Given the description of an element on the screen output the (x, y) to click on. 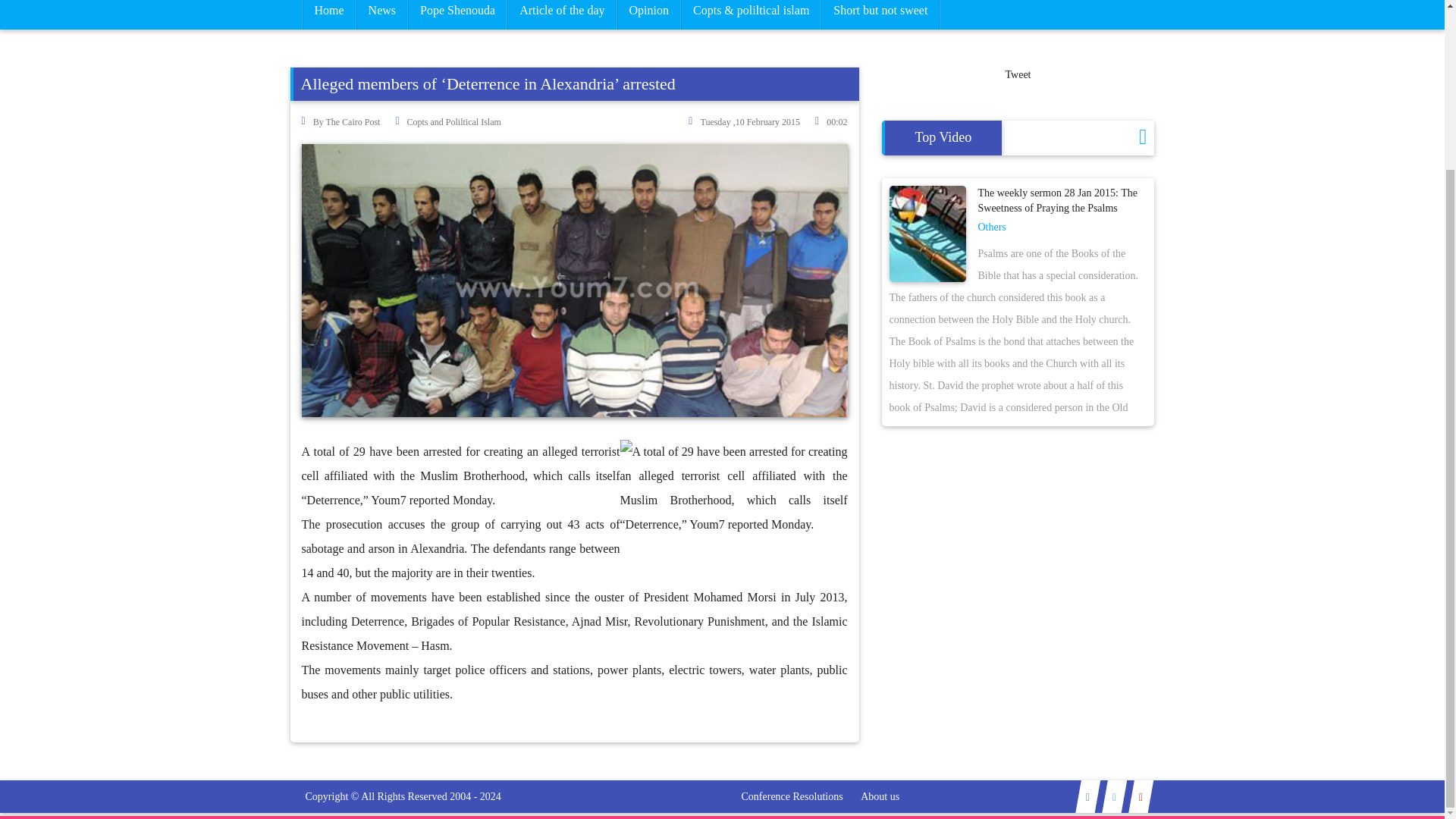
Tweet (1017, 74)
Short but not sweet (880, 14)
News (381, 14)
Article of the day (561, 14)
Home (328, 14)
Conference Resolutions (792, 796)
About us (879, 796)
Pope Shenouda (457, 14)
Opinion (648, 14)
